Given the description of an element on the screen output the (x, y) to click on. 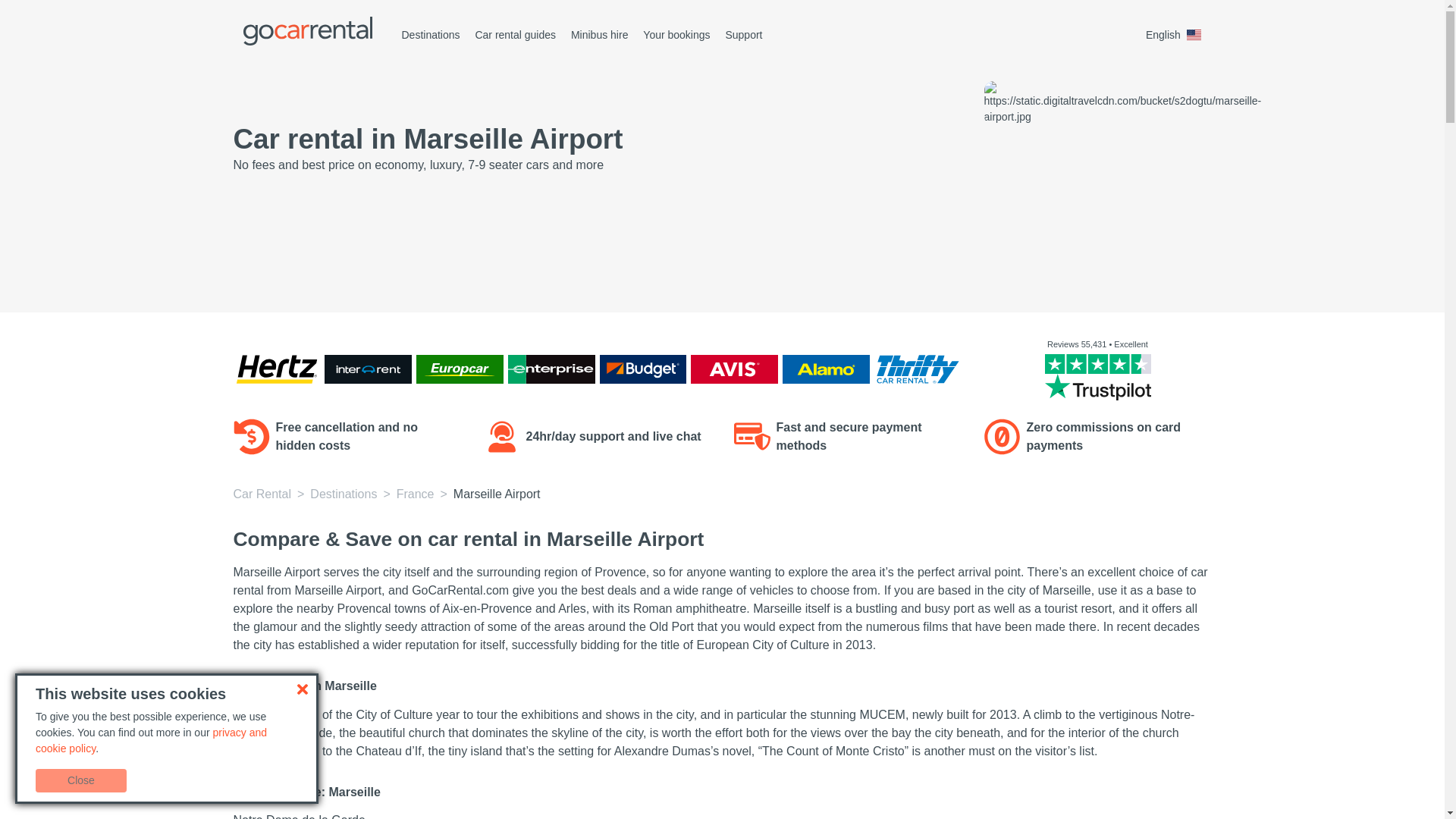
Destinations (343, 493)
Destinations (430, 34)
Minibus hire (598, 34)
Your bookings (676, 34)
France (414, 493)
Car Rental (261, 493)
Support (743, 34)
English (1176, 34)
Car rental guides (515, 34)
